Given the description of an element on the screen output the (x, y) to click on. 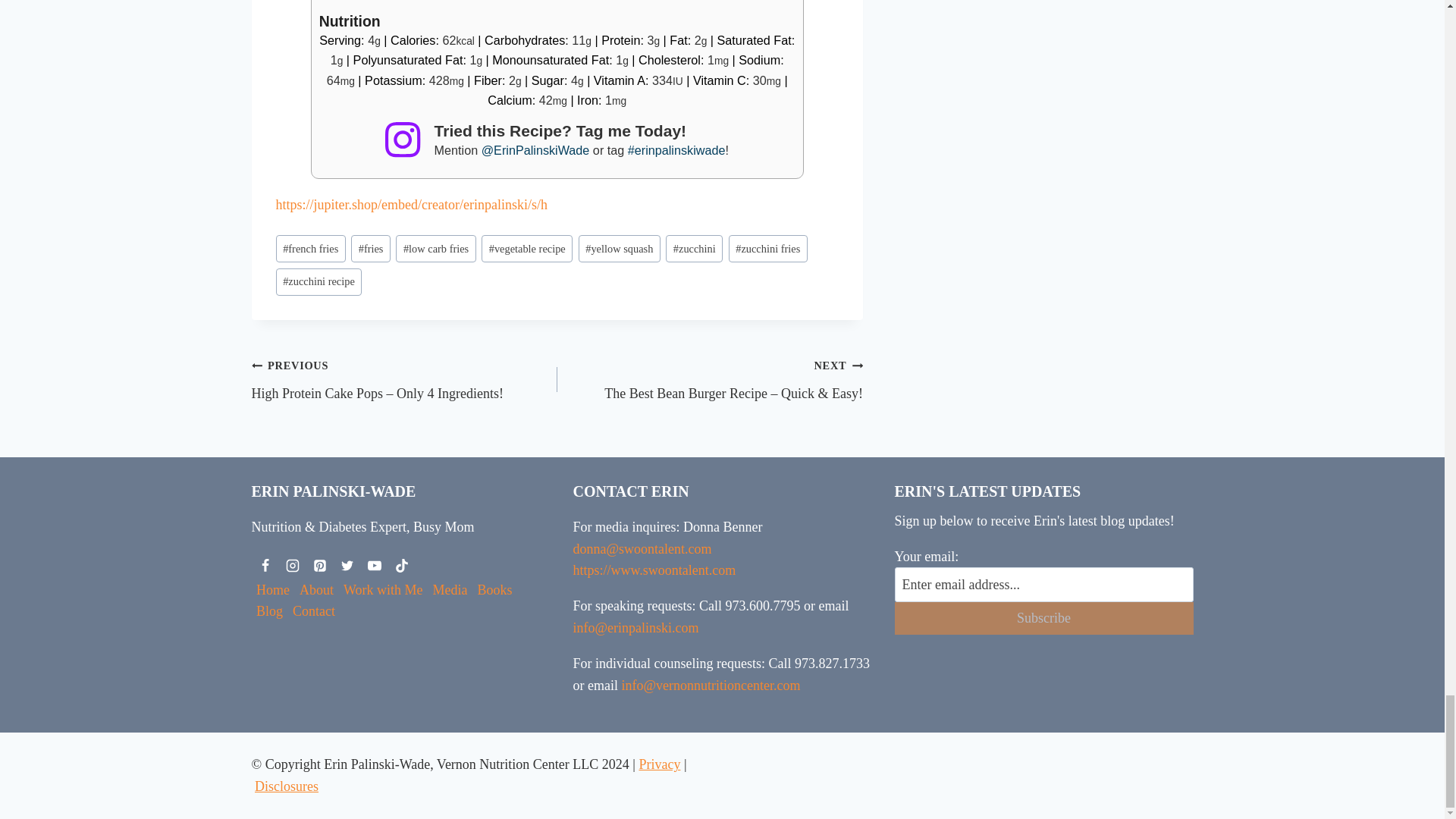
yellow squash (619, 248)
fries (370, 248)
Subscribe (1044, 617)
vegetable recipe (526, 248)
zucchini (693, 248)
french fries (311, 248)
low carb fries (436, 248)
zucchini fries (768, 248)
zucchini recipe (319, 282)
Enter email address... (1044, 584)
